Given the description of an element on the screen output the (x, y) to click on. 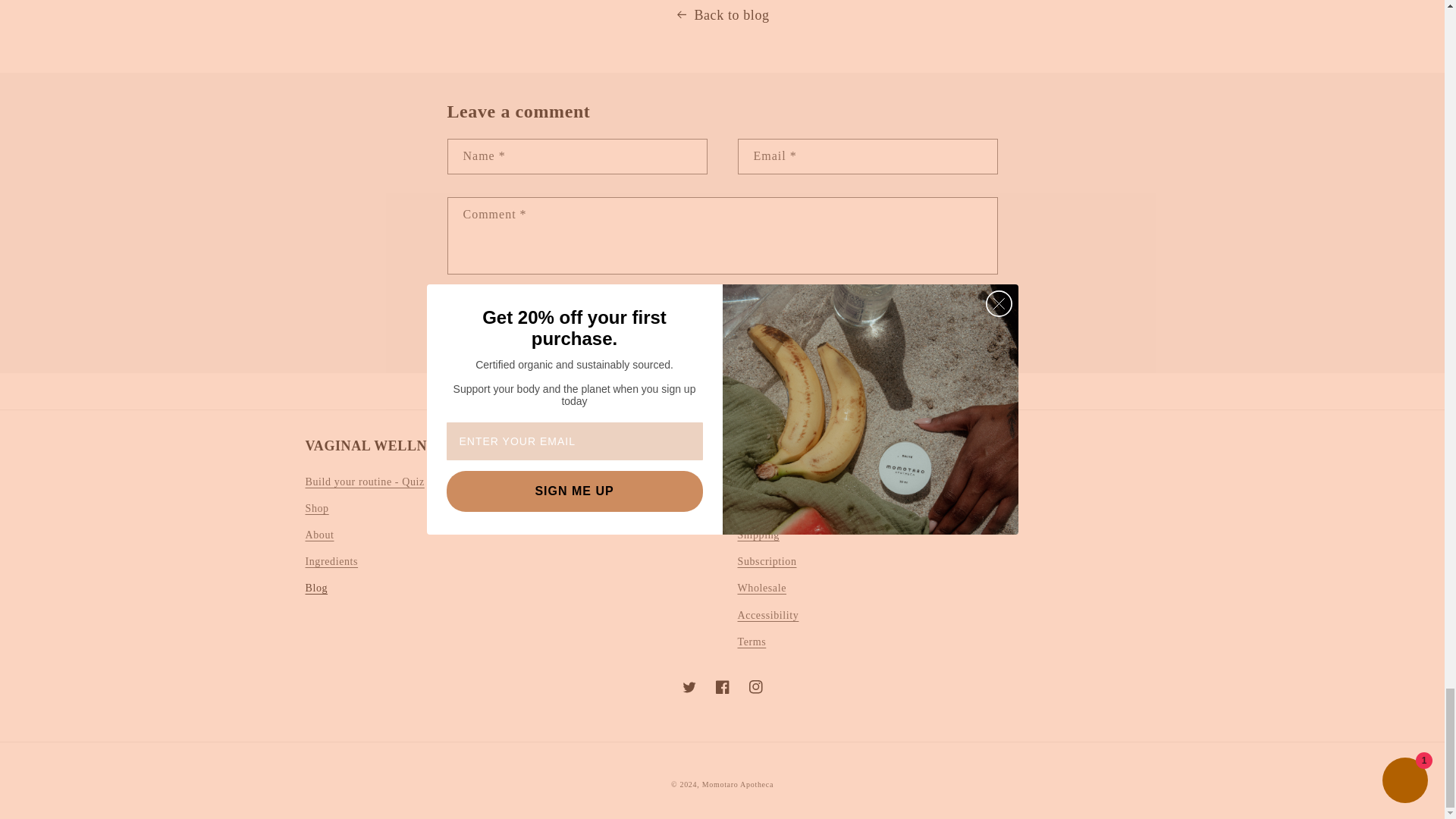
Post comment (506, 334)
